Given the description of an element on the screen output the (x, y) to click on. 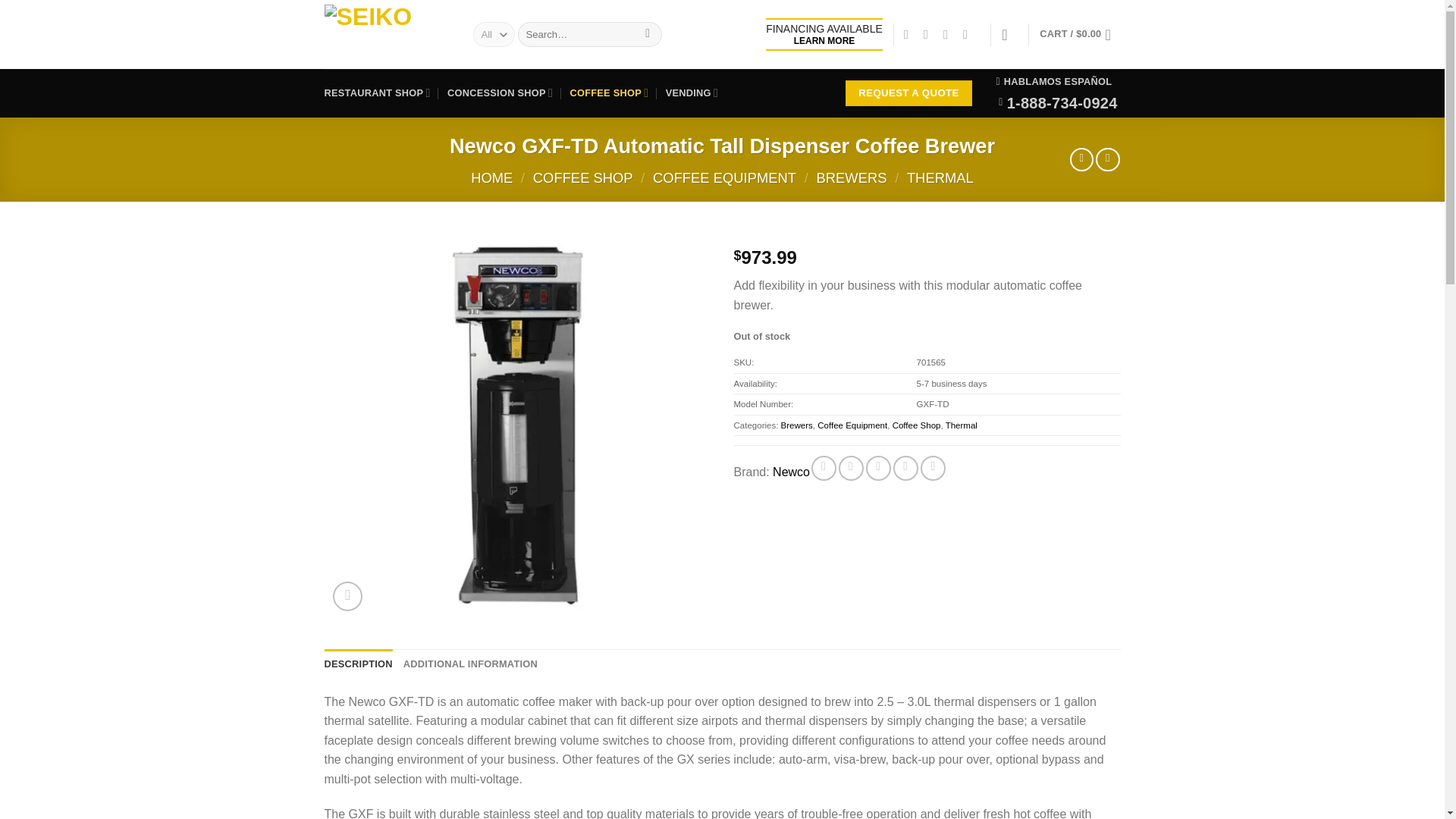
Follow on Facebook (909, 33)
Zoom (347, 595)
1-888-734-0924 (1057, 102)
Seiko - Seiko Restaurant Supply -Empower your business (386, 33)
Share on Facebook (822, 467)
LEARN MORE (824, 40)
Search (647, 34)
RESTAURANT SHOP (377, 92)
Cart (1079, 34)
